Given the description of an element on the screen output the (x, y) to click on. 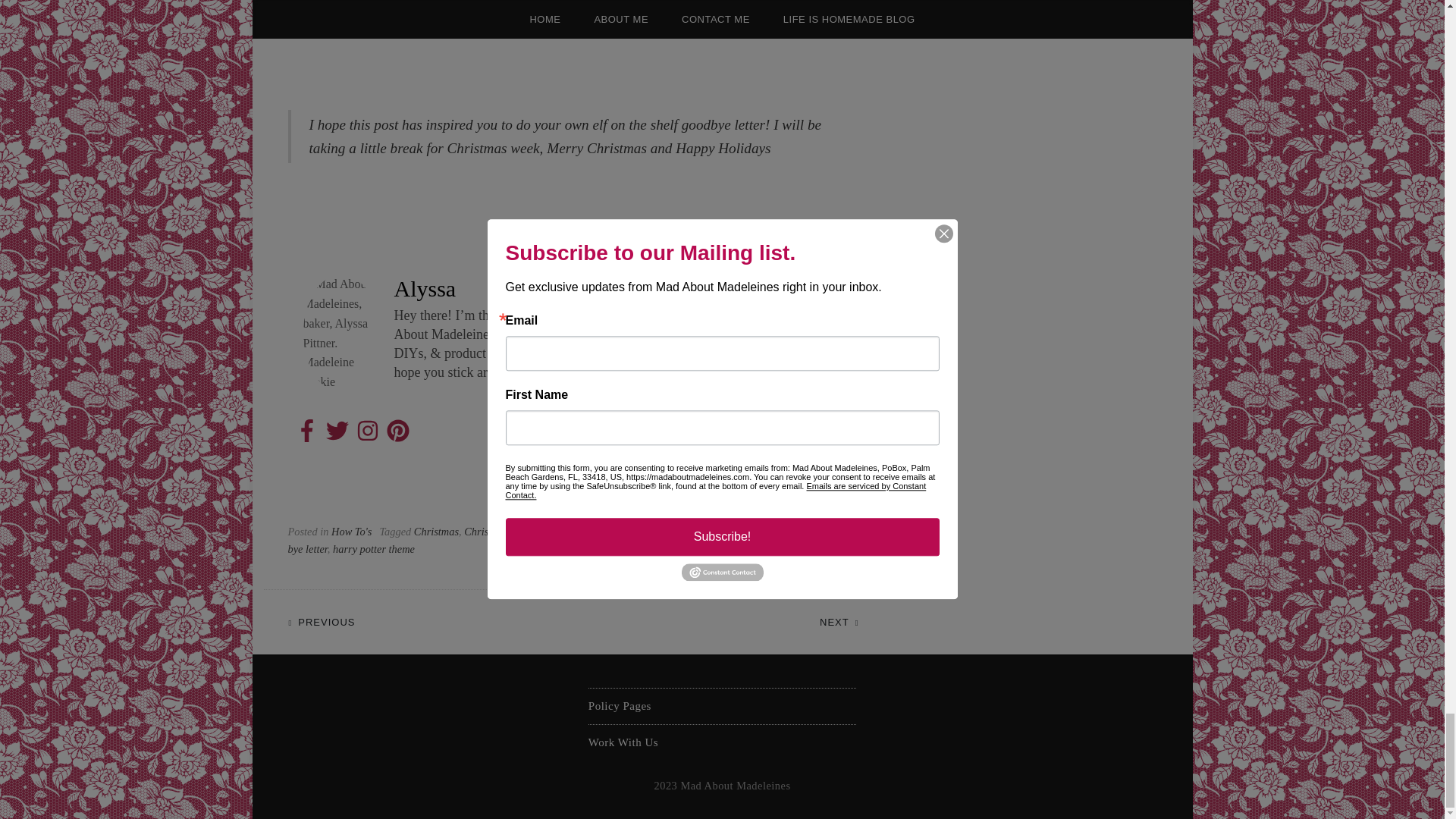
Pinterest (398, 430)
Facebook (306, 430)
Twitter (337, 430)
Instagram (367, 430)
Alyssa (425, 288)
